Given the description of an element on the screen output the (x, y) to click on. 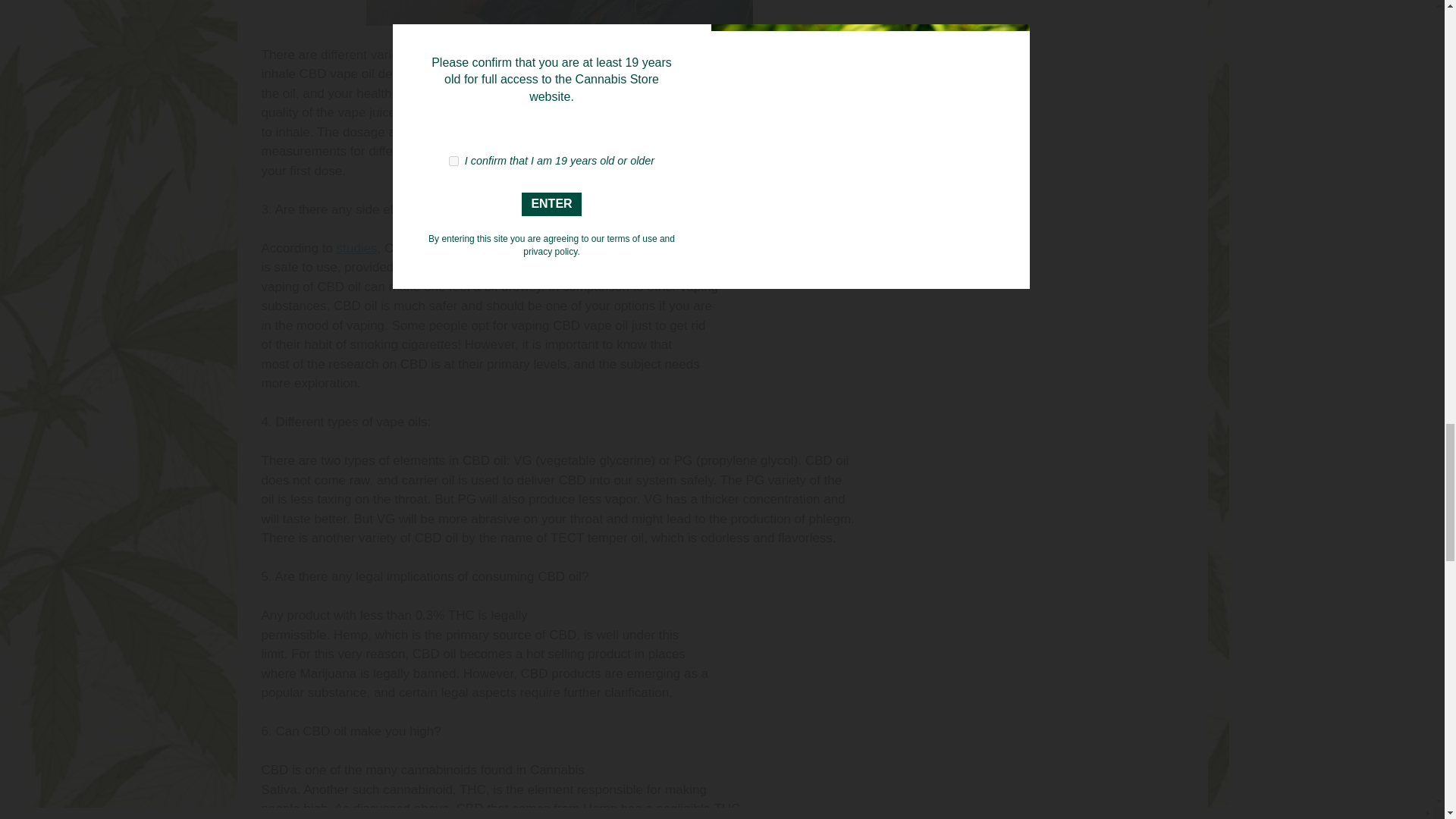
studies (356, 247)
